Given the description of an element on the screen output the (x, y) to click on. 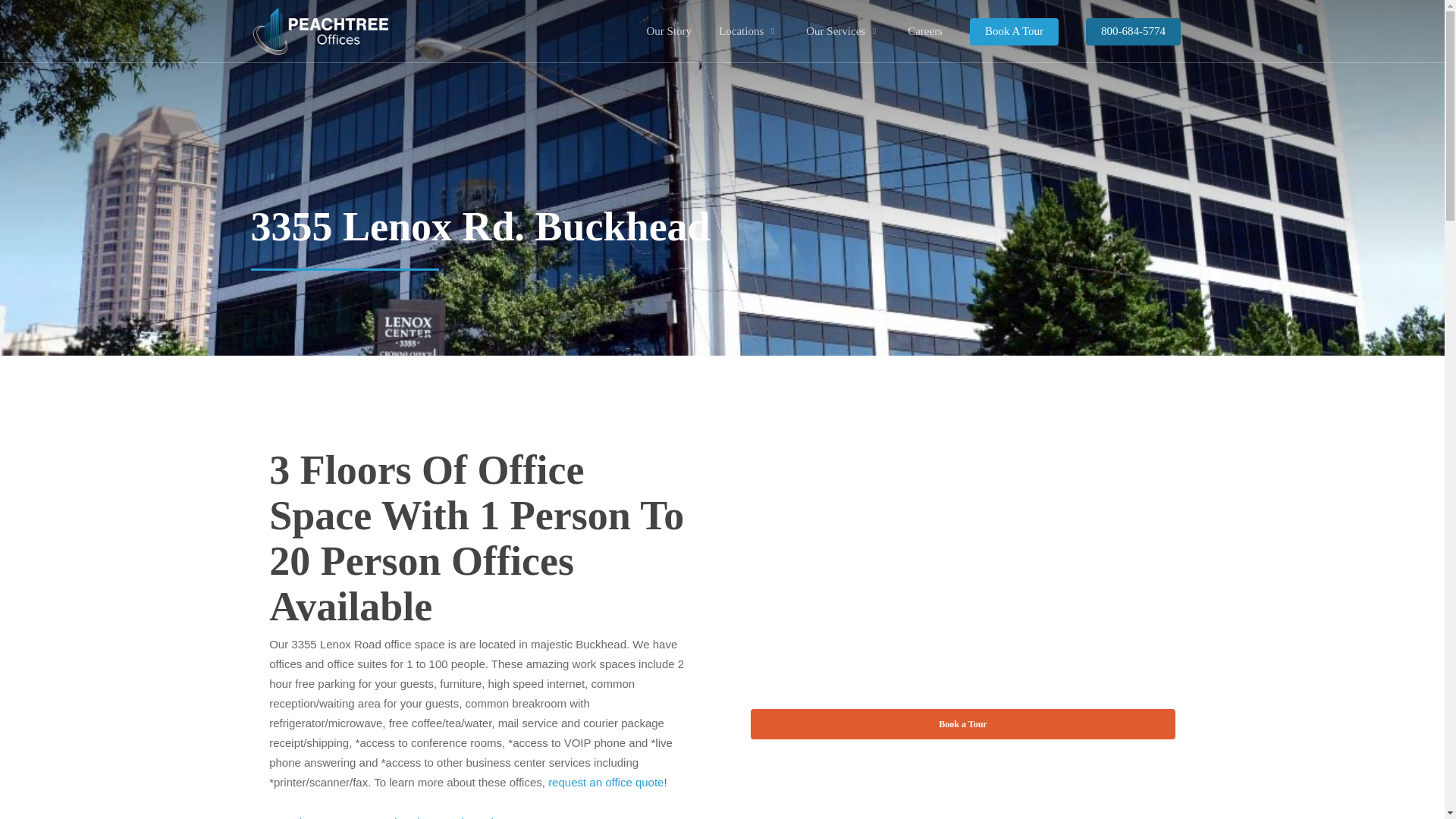
Our Services (842, 31)
request an office quote (605, 781)
View 3355 Lenox Rd. Suite 600 Floor Plan (398, 817)
Book A Tour (1013, 31)
YouTube video player (962, 565)
Careers (924, 31)
Book a Tour (962, 724)
Locations (748, 31)
800-684-5774 (1133, 31)
Our Story (667, 31)
